Given the description of an element on the screen output the (x, y) to click on. 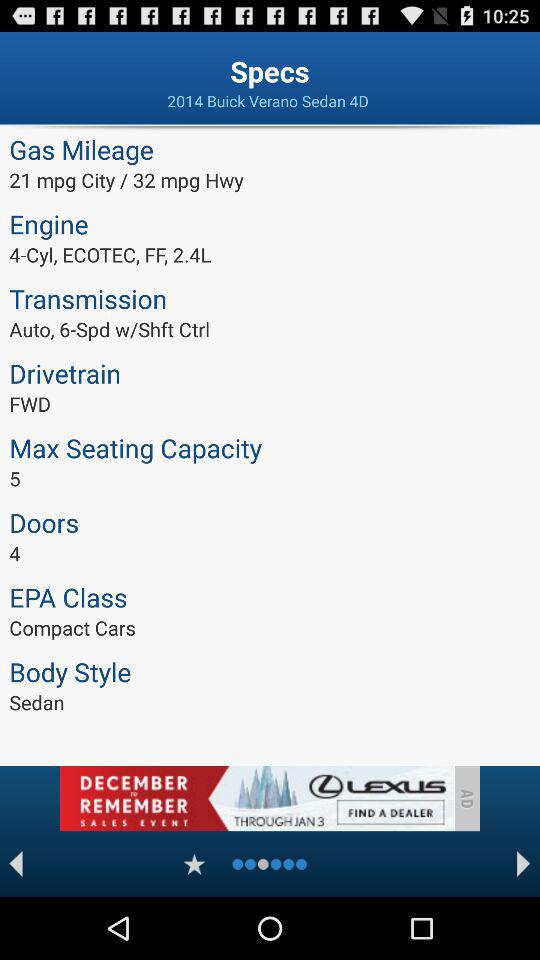
go to previous (16, 864)
